Given the description of an element on the screen output the (x, y) to click on. 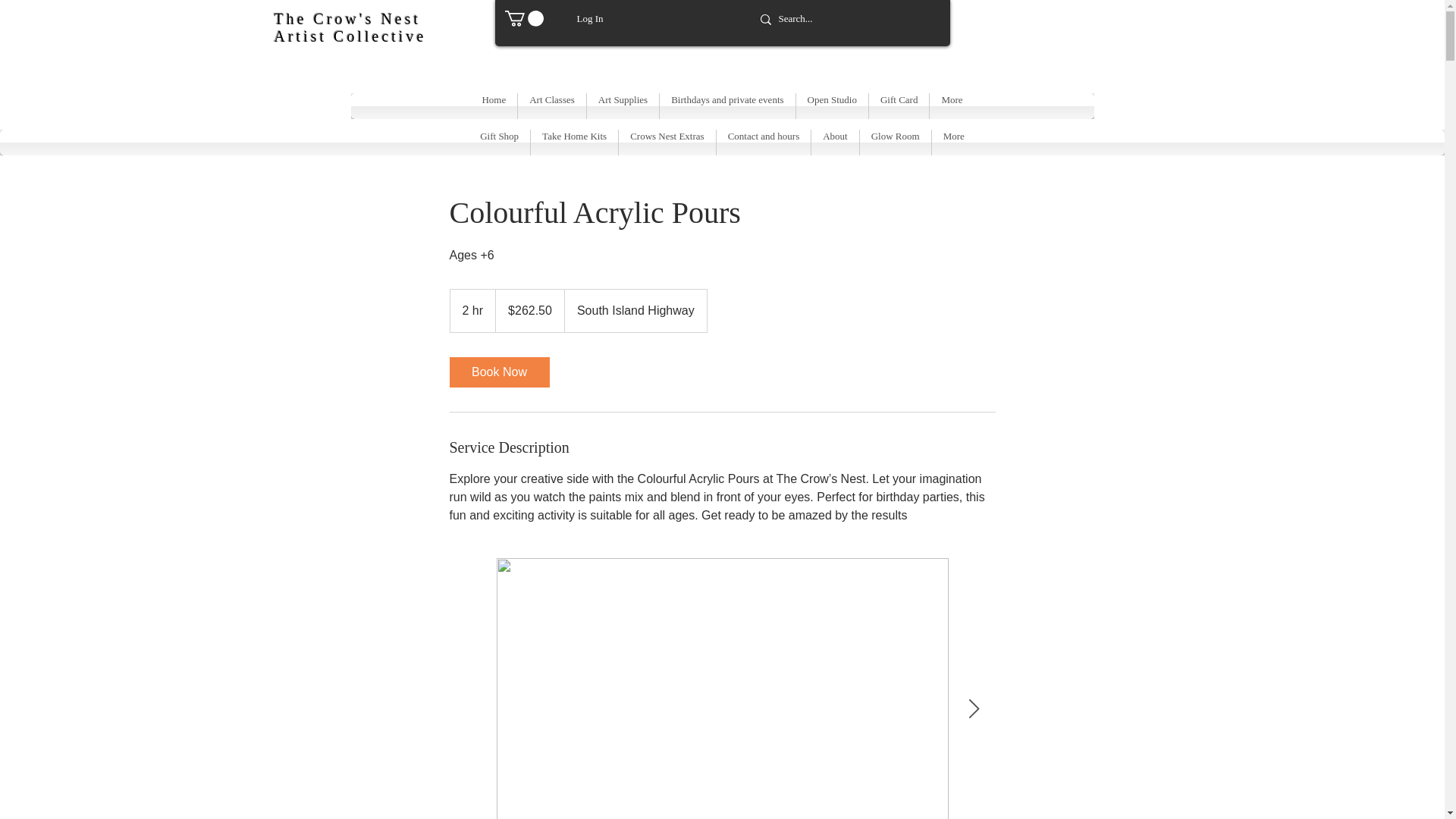
Glow Room (895, 142)
Contact and hours (763, 142)
Birthdays and private events (726, 105)
About (834, 142)
Book Now (498, 372)
Art Supplies (622, 105)
Gift Card (898, 105)
Home (493, 105)
Open Studio (831, 105)
Take Home Kits (574, 142)
Gift Shop (498, 142)
Crows Nest Extras (667, 142)
Log In (589, 18)
The Crow's Nest (348, 18)
Artist Collective (350, 36)
